Given the description of an element on the screen output the (x, y) to click on. 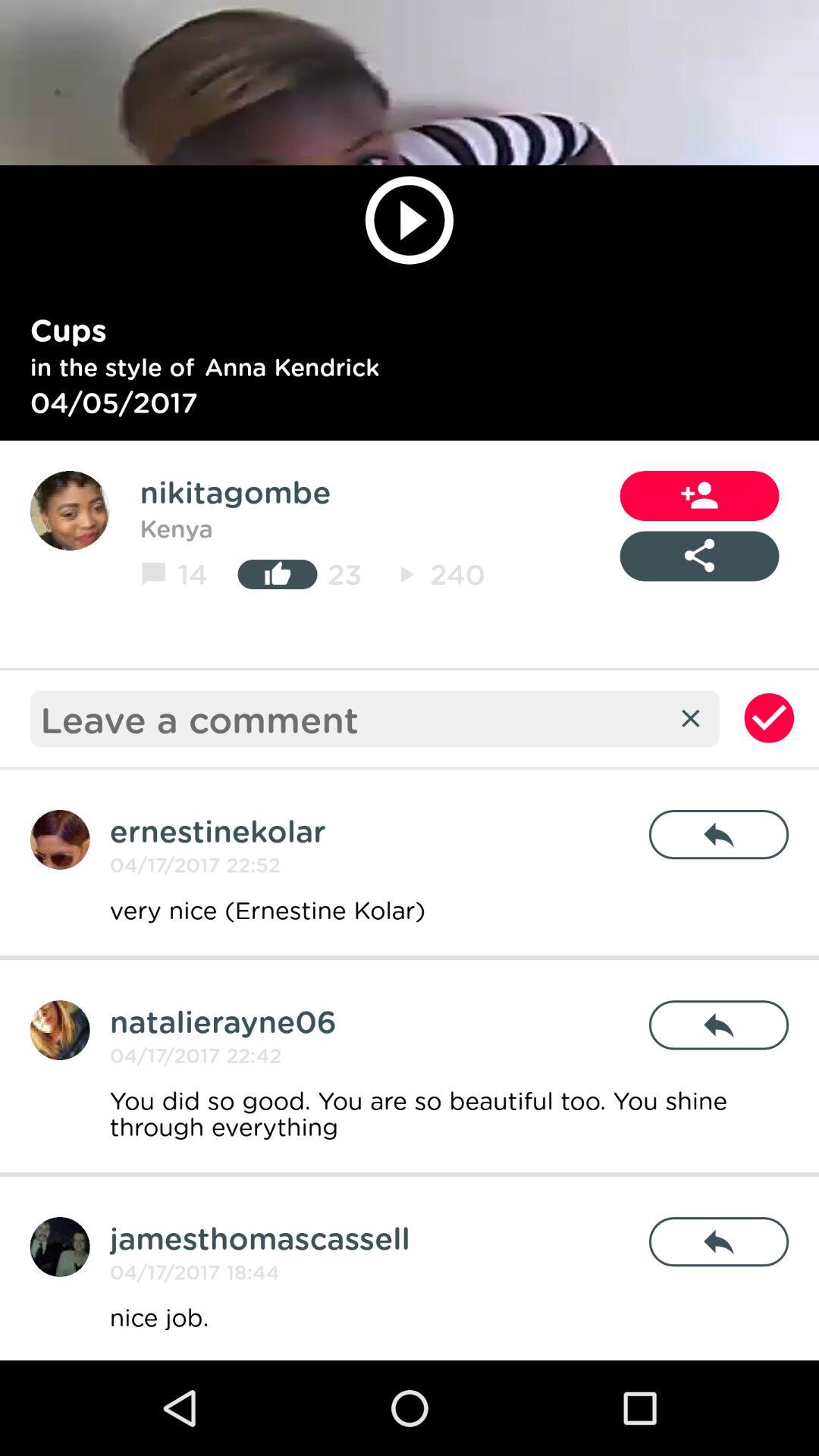
go to add (59, 1030)
